Given the description of an element on the screen output the (x, y) to click on. 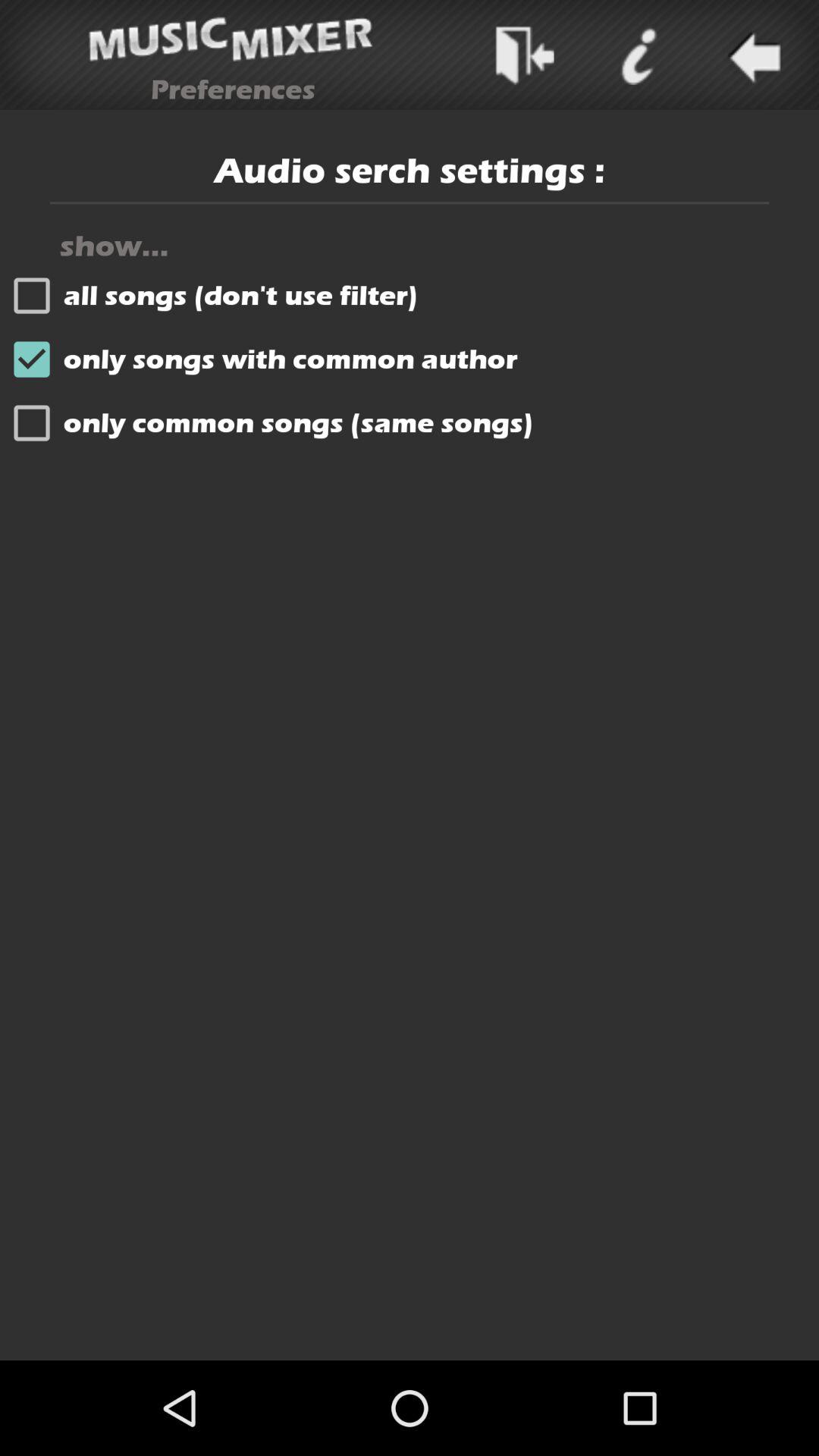
go back (751, 54)
